Given the description of an element on the screen output the (x, y) to click on. 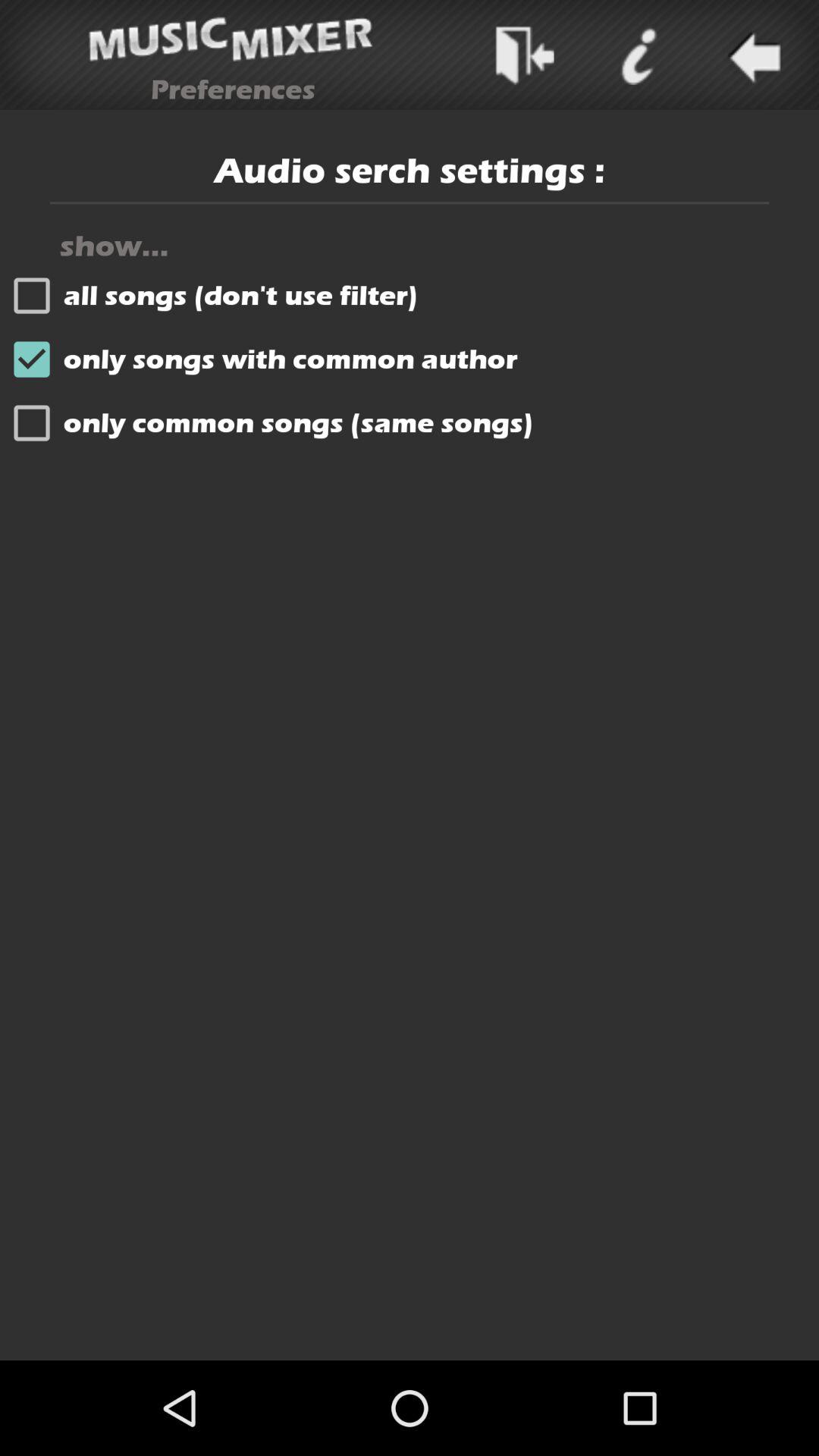
go back (751, 54)
